Given the description of an element on the screen output the (x, y) to click on. 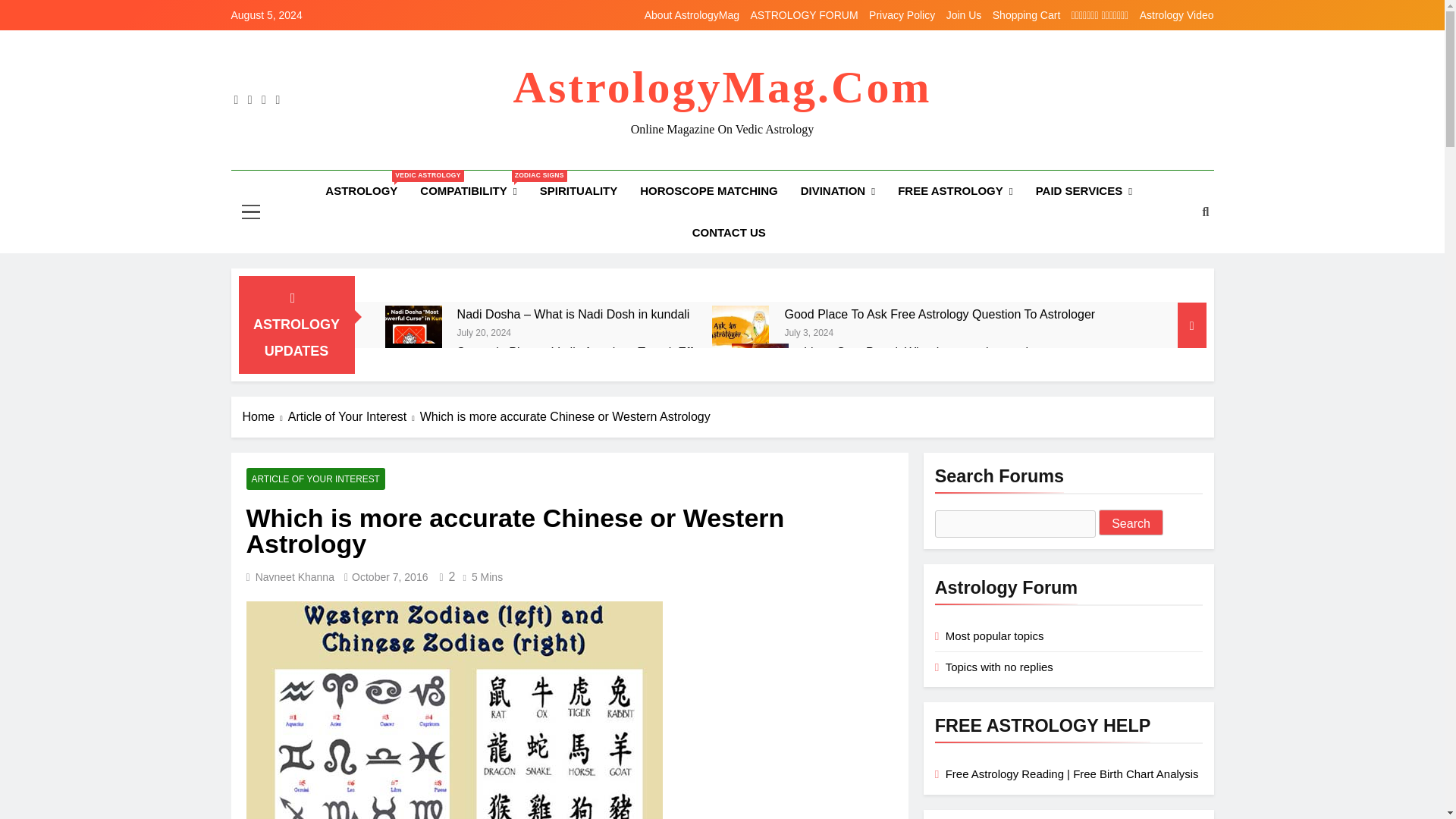
Join Us (963, 15)
Good Place To Ask Free Astrology Question To Astrologer (361, 190)
Saturn in Pisces: Vedic Astrology Transit Effect (739, 333)
Shopping Cart (413, 371)
SPIRITUALITY (1026, 15)
Compatibility (578, 190)
Search (468, 191)
Saturn in Pisces: Vedic Astrology Transit Effect (1131, 522)
Astrology Video (583, 351)
FREE ASTROLOGY (1177, 15)
HOROSCOPE MATCHING (955, 191)
Good Place To Ask Free Astrology Question To Astrologer (708, 190)
Privacy Policy (939, 314)
AstrologyMag.Com (901, 15)
